Given the description of an element on the screen output the (x, y) to click on. 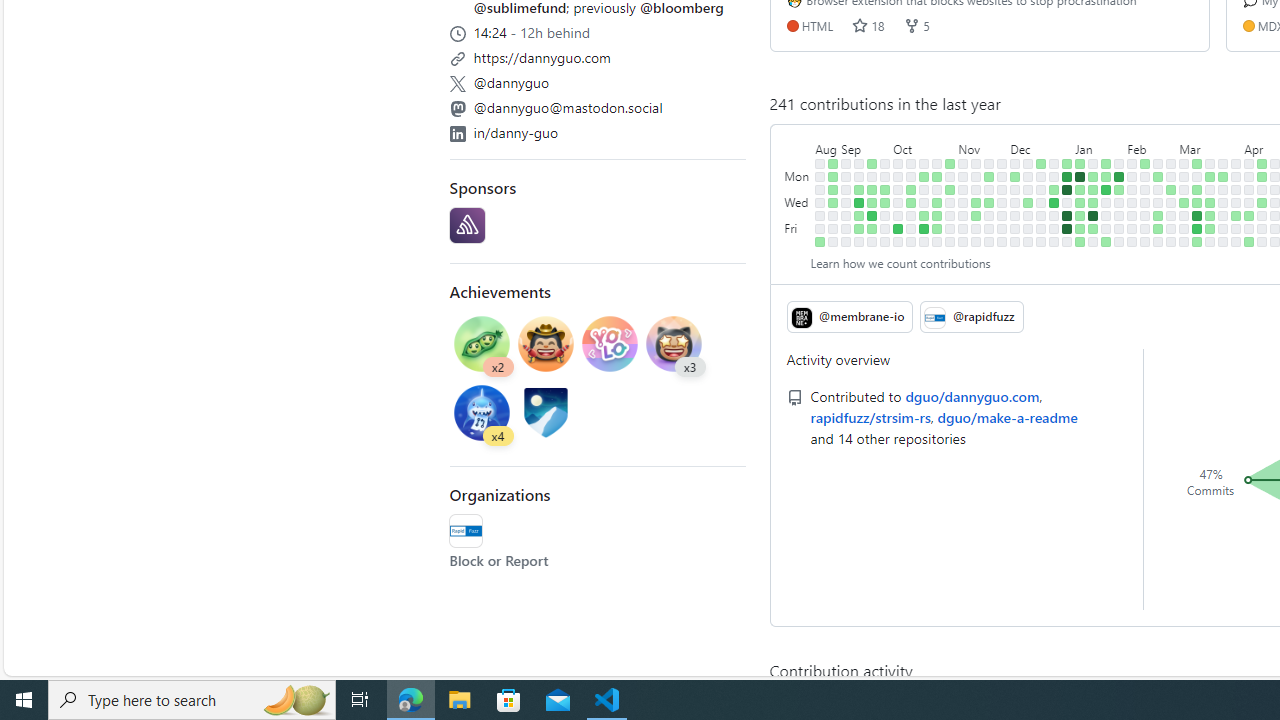
2 contributions on January 13th. (1080, 241)
1 contribution on January 7th. (1080, 163)
No contributions on December 10th. (1028, 163)
No contributions on November 13th. (976, 176)
No contributions on December 30th. (1054, 241)
No contributions on March 8th. (1184, 228)
No contributions on August 20th. (820, 163)
No contributions on November 7th. (962, 189)
1 contribution on October 25th. (937, 202)
stars 18 (868, 25)
No contributions on April 1st. (1236, 176)
No contributions on April 7th. (1249, 163)
No contributions on March 3rd. (1184, 163)
No contributions on February 16th. (1145, 228)
No contributions on February 7th. (1131, 202)
